Given the description of an element on the screen output the (x, y) to click on. 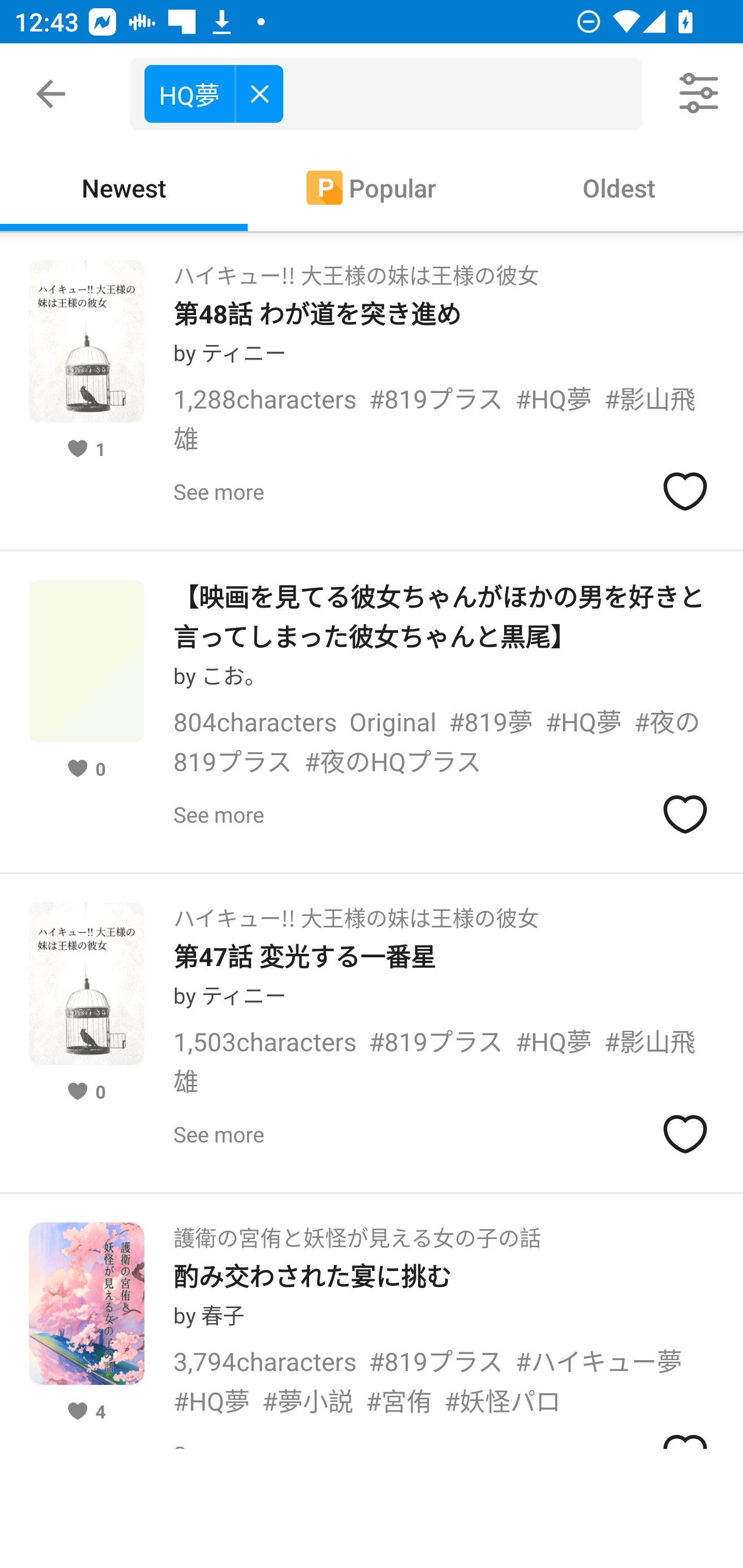
Navigate up (50, 93)
Filters (699, 93)
HQ夢 (213, 93)
[P] Popular (371, 187)
Oldest (619, 187)
ハイキュー!! 大王様の妹は王様の彼女 (356, 269)
ハイキュー!! 大王様の妹は王様の彼女 (356, 911)
護衛の宮侑と妖怪が見える女の子の話 (356, 1231)
